Given the description of an element on the screen output the (x, y) to click on. 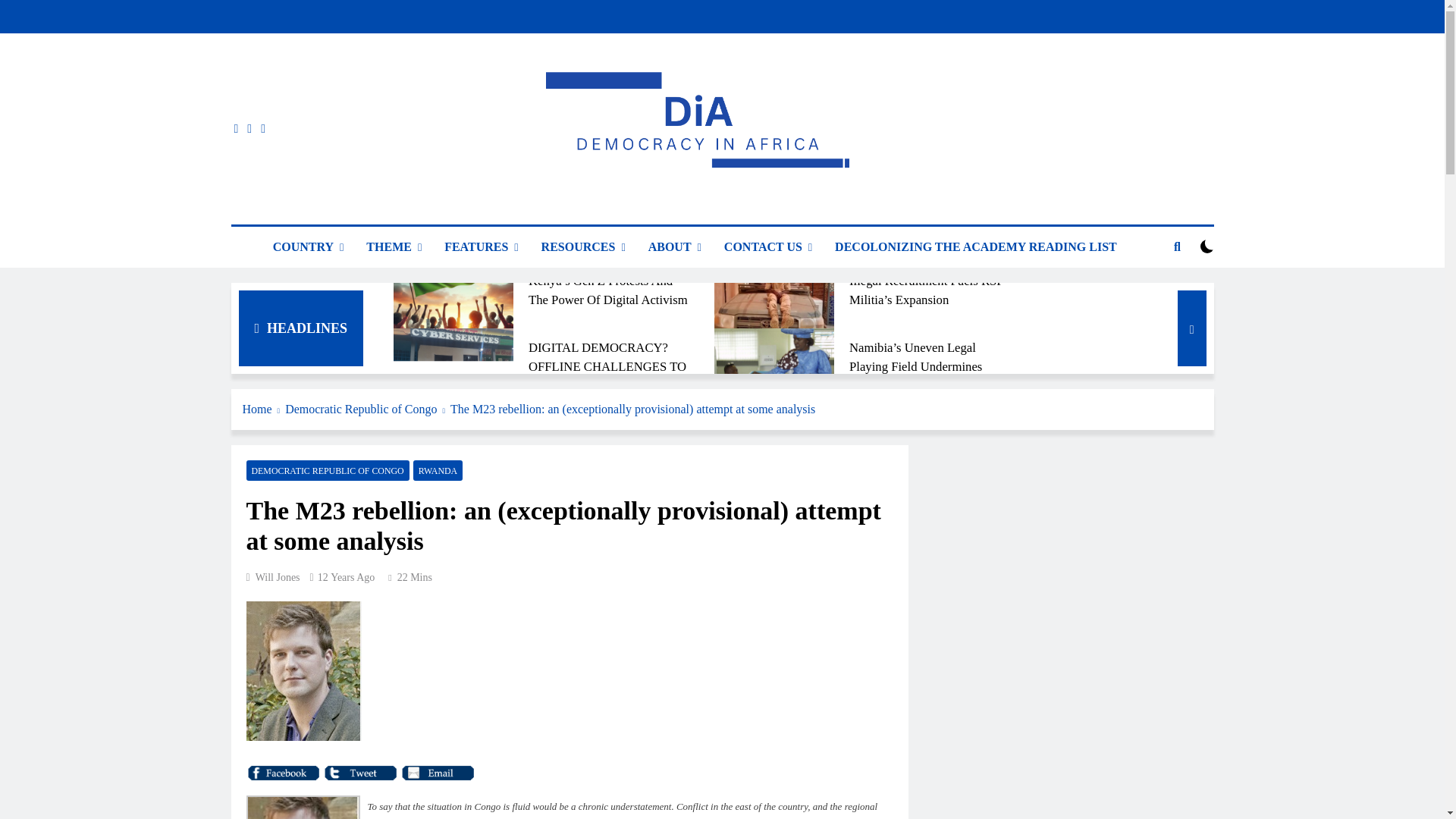
COUNTRY (308, 246)
Democracy In Africa (583, 210)
on (1206, 246)
